Given the description of an element on the screen output the (x, y) to click on. 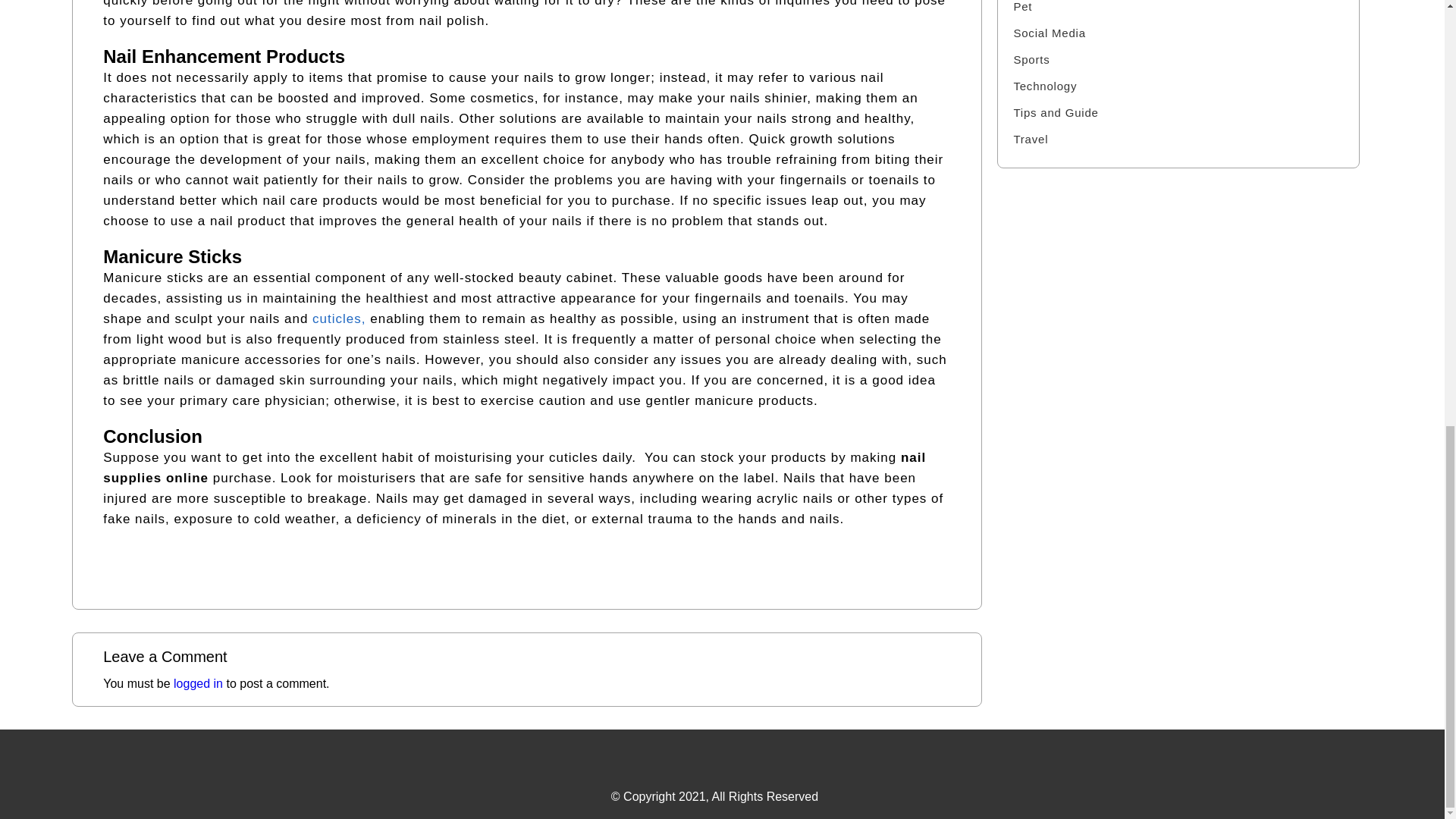
logged in (197, 683)
cuticles, (339, 318)
